Given the description of an element on the screen output the (x, y) to click on. 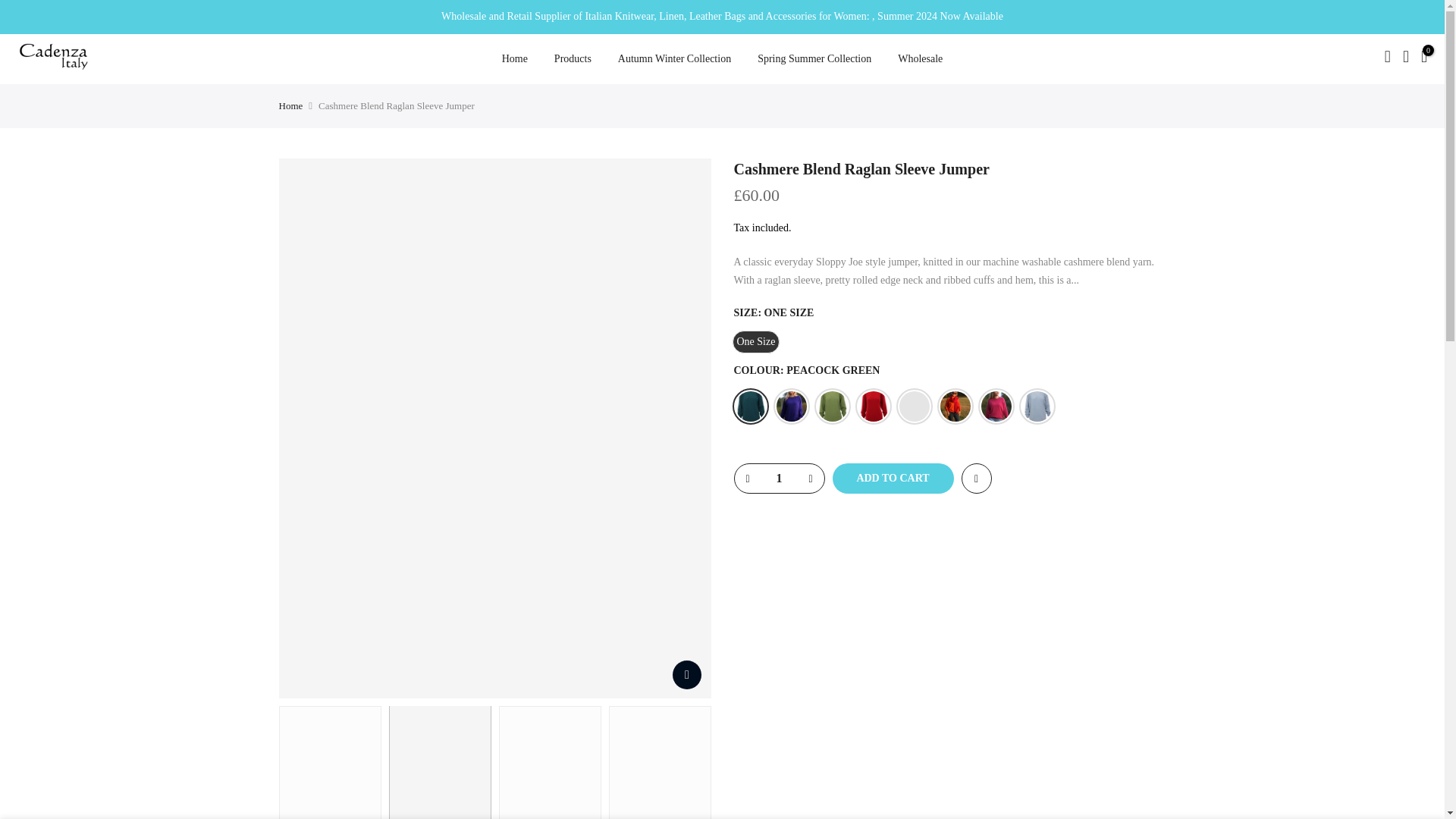
Home (290, 105)
Spring Summer Collection (814, 58)
Products (572, 58)
ADD TO CART (892, 478)
Autumn Winter Collection (674, 58)
1 (778, 478)
Wholesale (920, 58)
Home (513, 58)
